Given the description of an element on the screen output the (x, y) to click on. 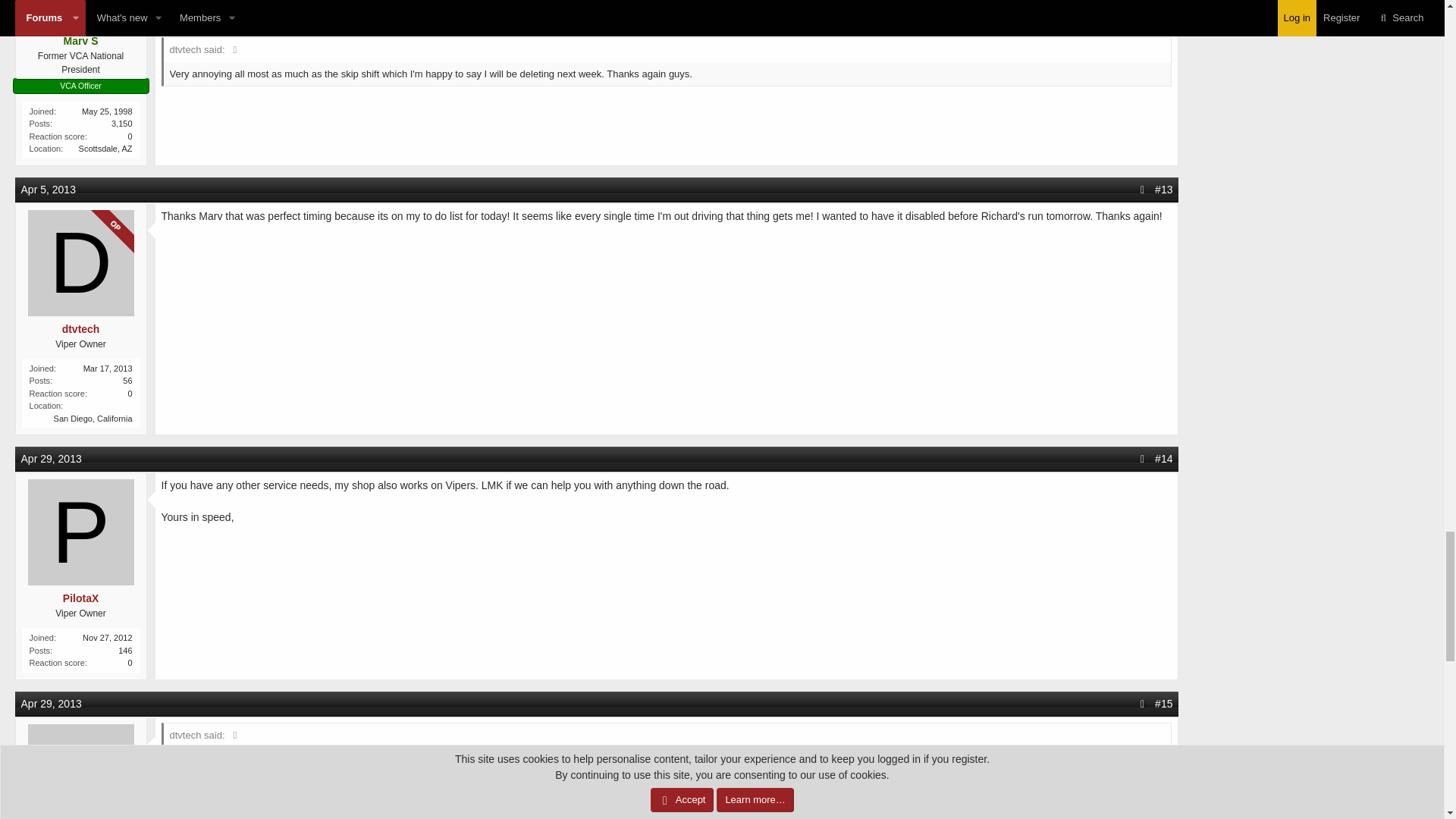
Apr 5, 2013 at 9:53 AM (48, 189)
Apr 29, 2013 at 7:11 PM (51, 458)
